Given the description of an element on the screen output the (x, y) to click on. 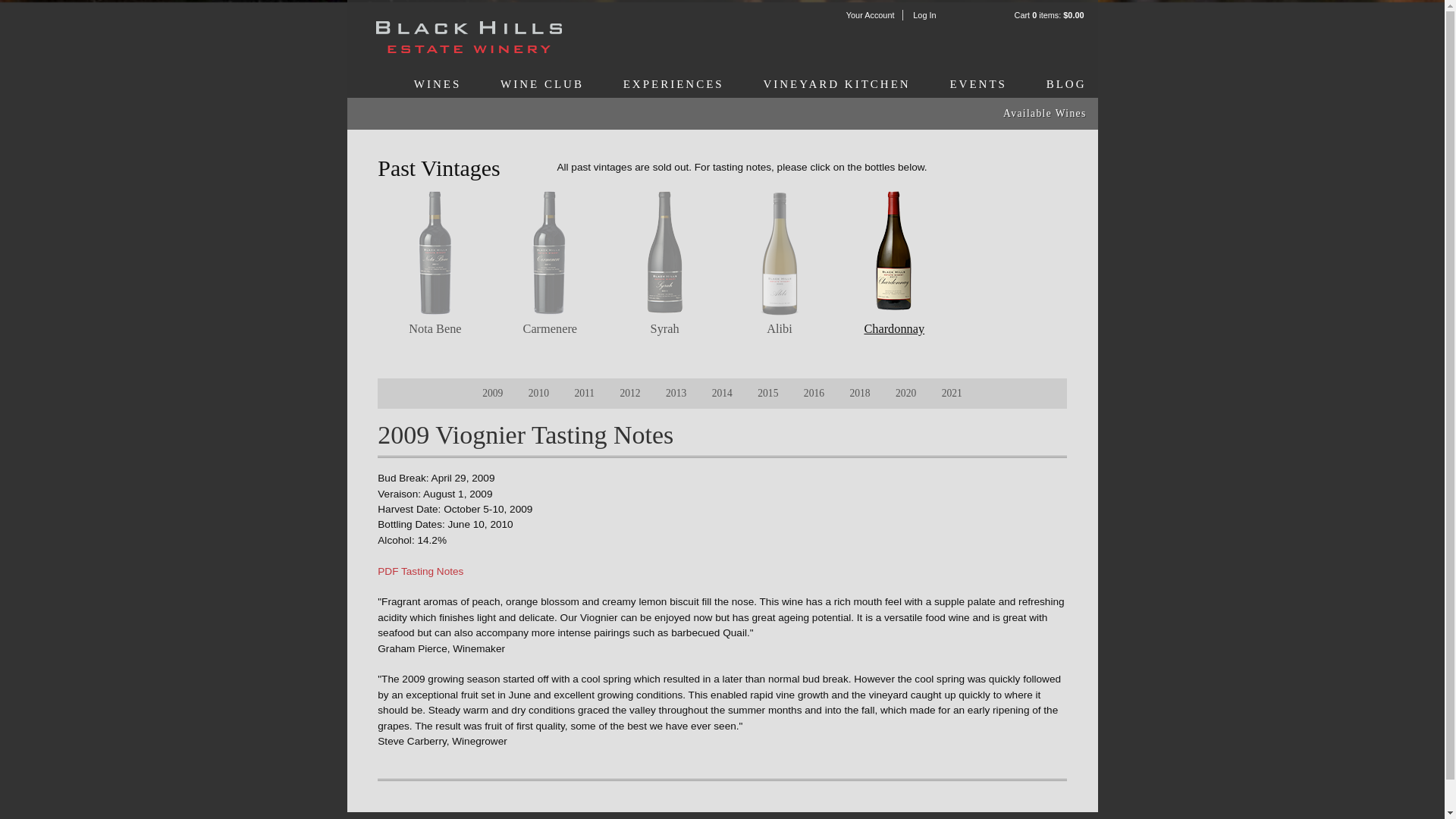
2020 (905, 392)
2013 (675, 392)
Syrah (664, 328)
2009 (491, 392)
WINE CLUB (541, 84)
VINEYARD KITCHEN (836, 84)
2014 (721, 392)
Nota Bene (435, 328)
2015 (767, 392)
Black Hills Estate (467, 37)
